Given the description of an element on the screen output the (x, y) to click on. 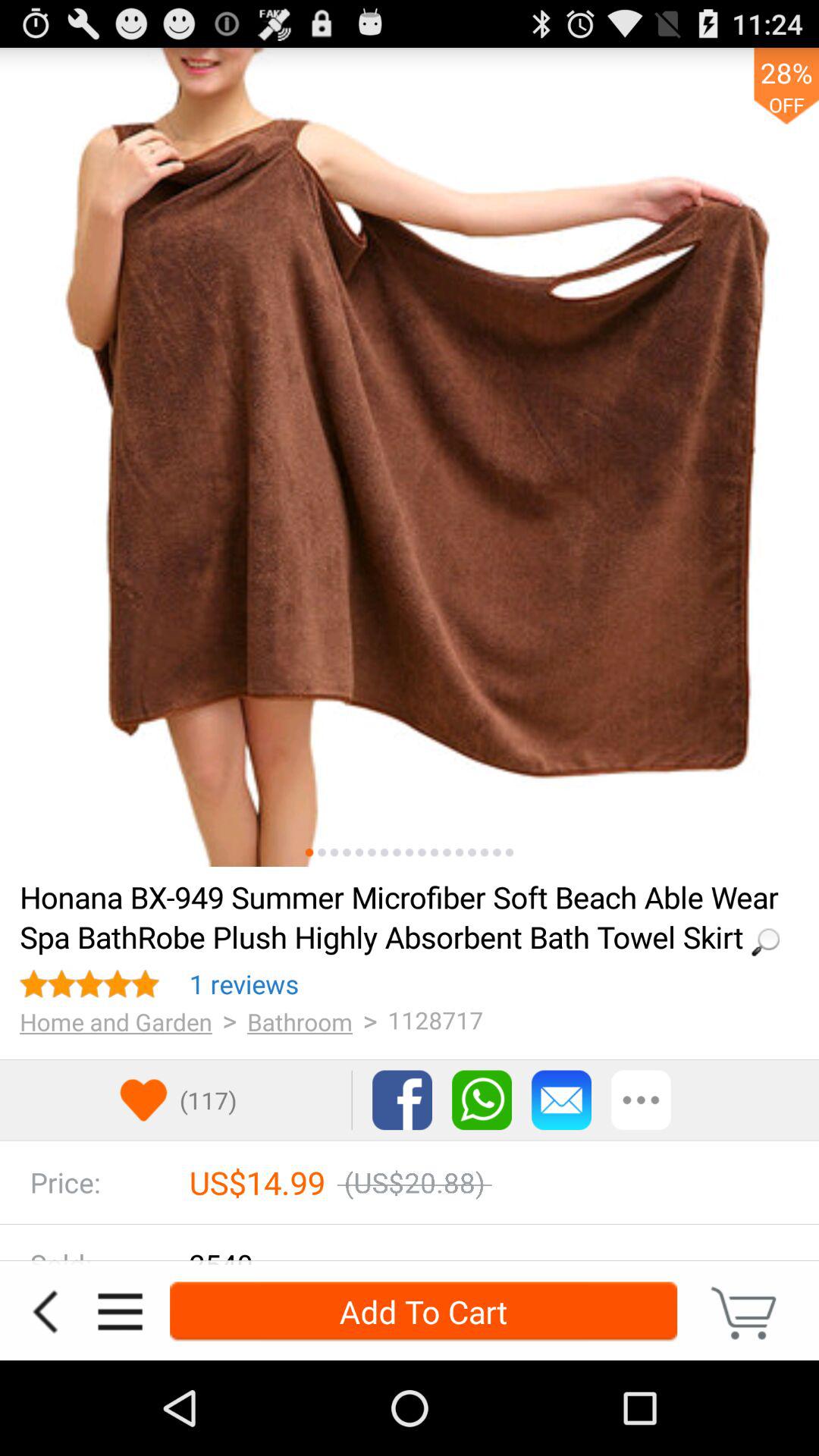
tap item above 1 reviews item (403, 916)
